Given the description of an element on the screen output the (x, y) to click on. 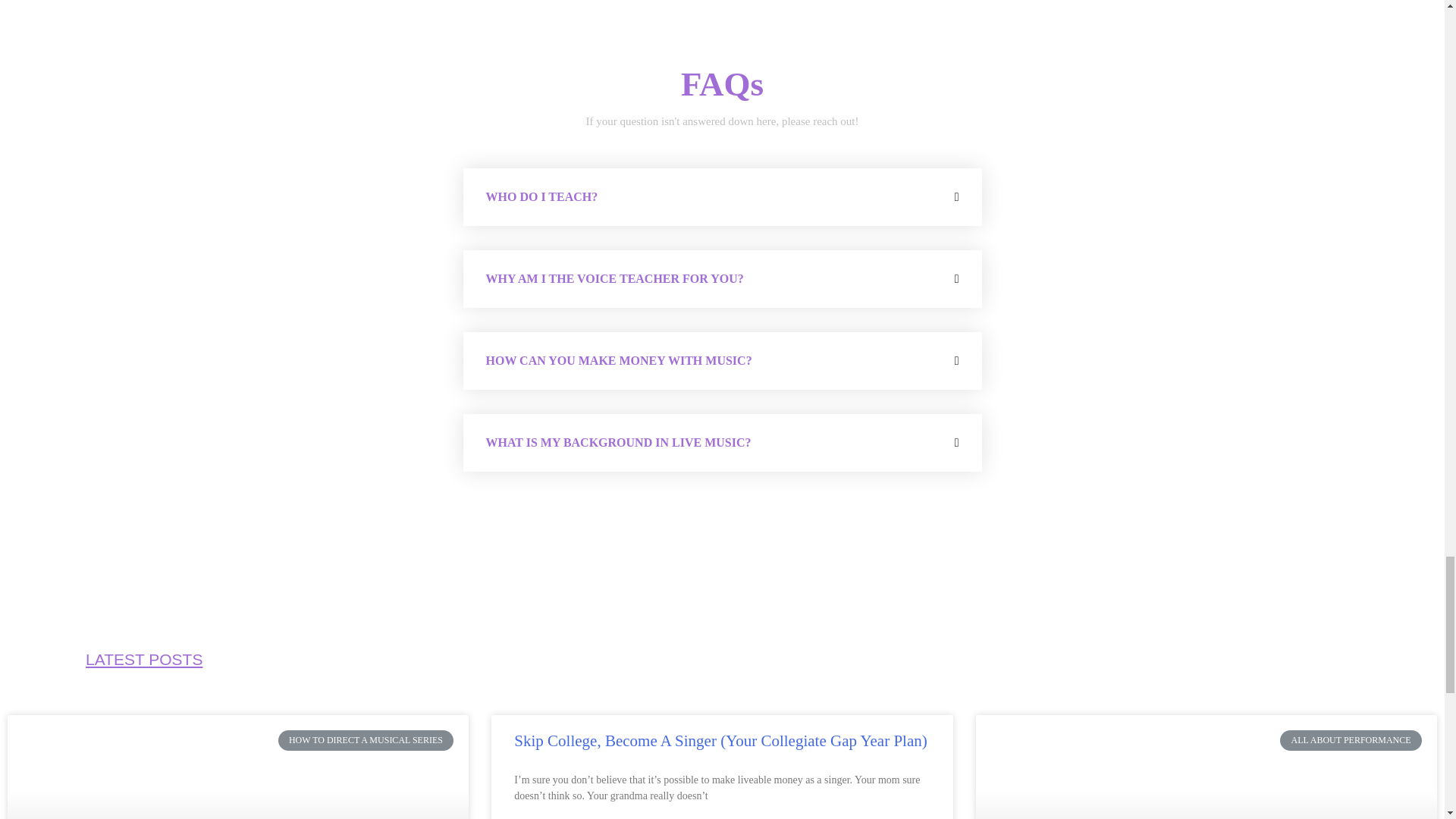
WHO DO I TEACH? (540, 196)
WHAT IS MY BACKGROUND IN LIVE MUSIC? (617, 441)
HOW CAN YOU MAKE MONEY WITH MUSIC? (617, 359)
WHY AM I THE VOICE TEACHER FOR YOU? (613, 278)
